Given the description of an element on the screen output the (x, y) to click on. 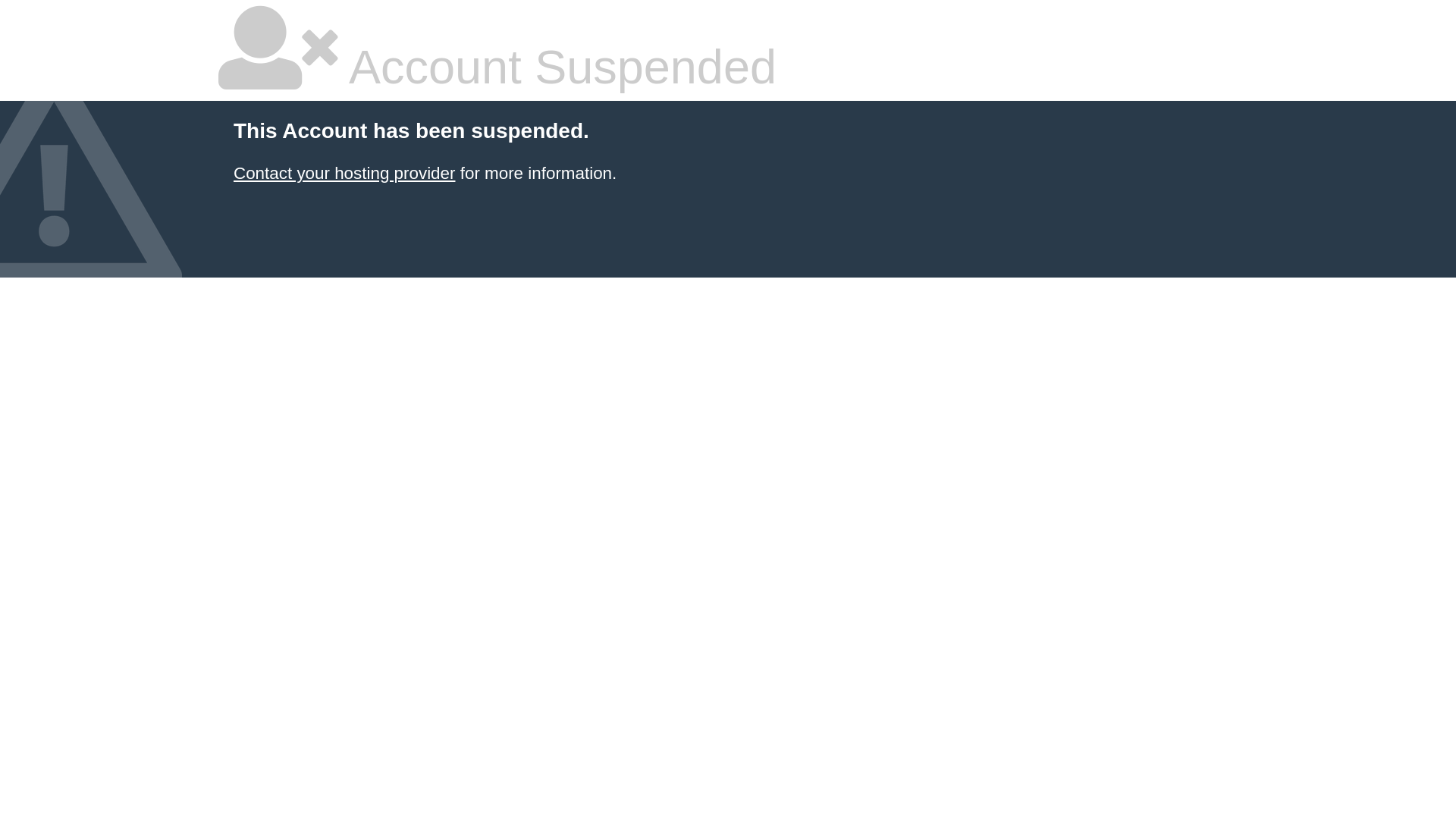
Contact your hosting provider Element type: text (344, 172)
